Given the description of an element on the screen output the (x, y) to click on. 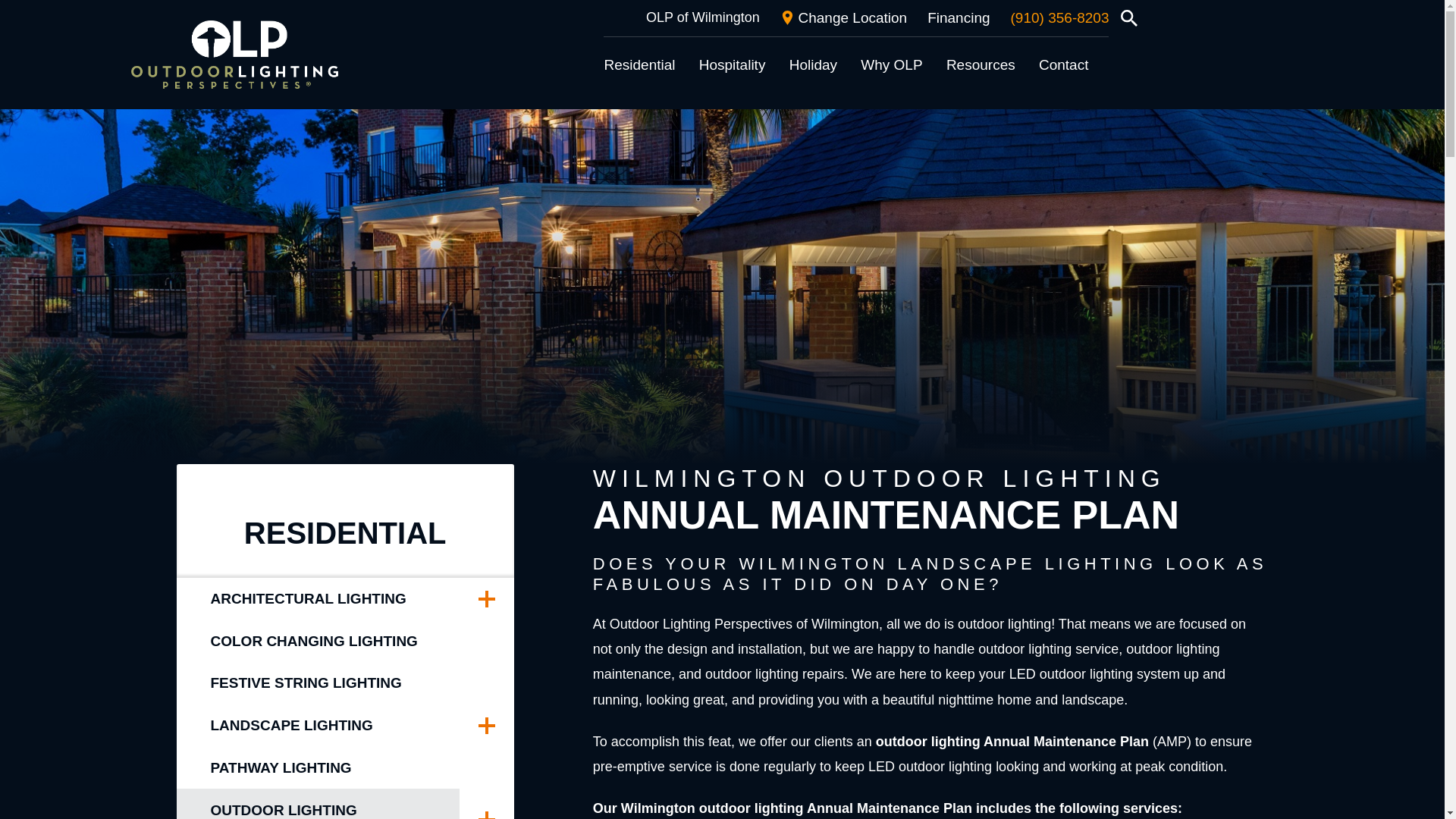
Outdoor Lighting Perspectives (234, 54)
Financing (958, 18)
Hospitality (731, 65)
Residential (639, 65)
Change Location (843, 18)
